Given the description of an element on the screen output the (x, y) to click on. 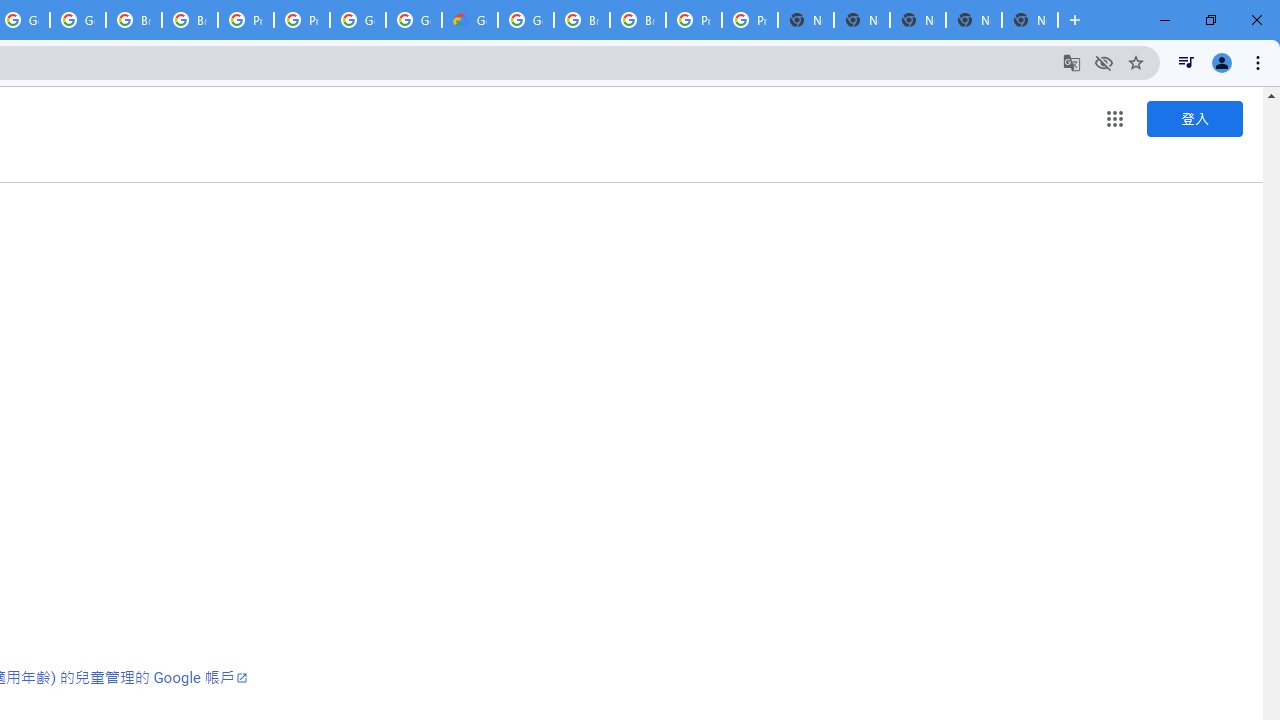
Browse Chrome as a guest - Computer - Google Chrome Help (134, 20)
Google Cloud Estimate Summary (469, 20)
Translate this page (1071, 62)
Google Cloud Platform (525, 20)
Google Cloud Platform (413, 20)
New Tab (1030, 20)
Browse Chrome as a guest - Computer - Google Chrome Help (582, 20)
